Given the description of an element on the screen output the (x, y) to click on. 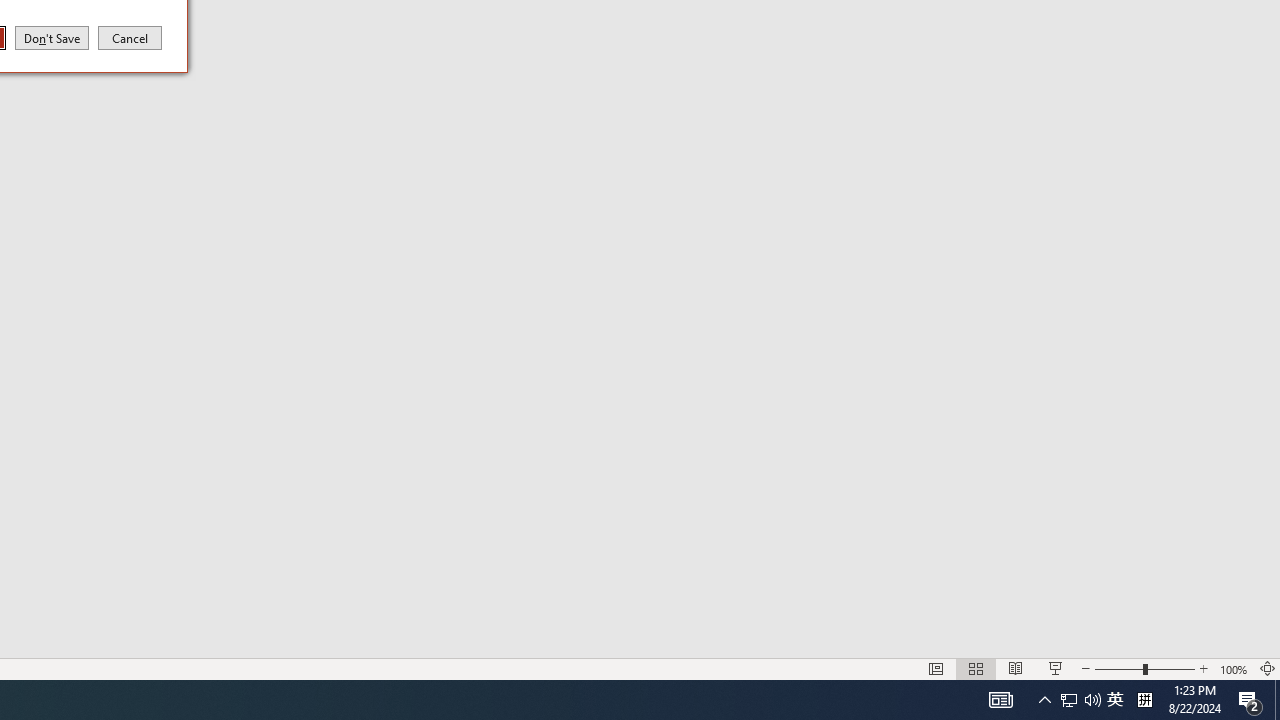
Action Center, 2 new notifications (1250, 699)
